Given the description of an element on the screen output the (x, y) to click on. 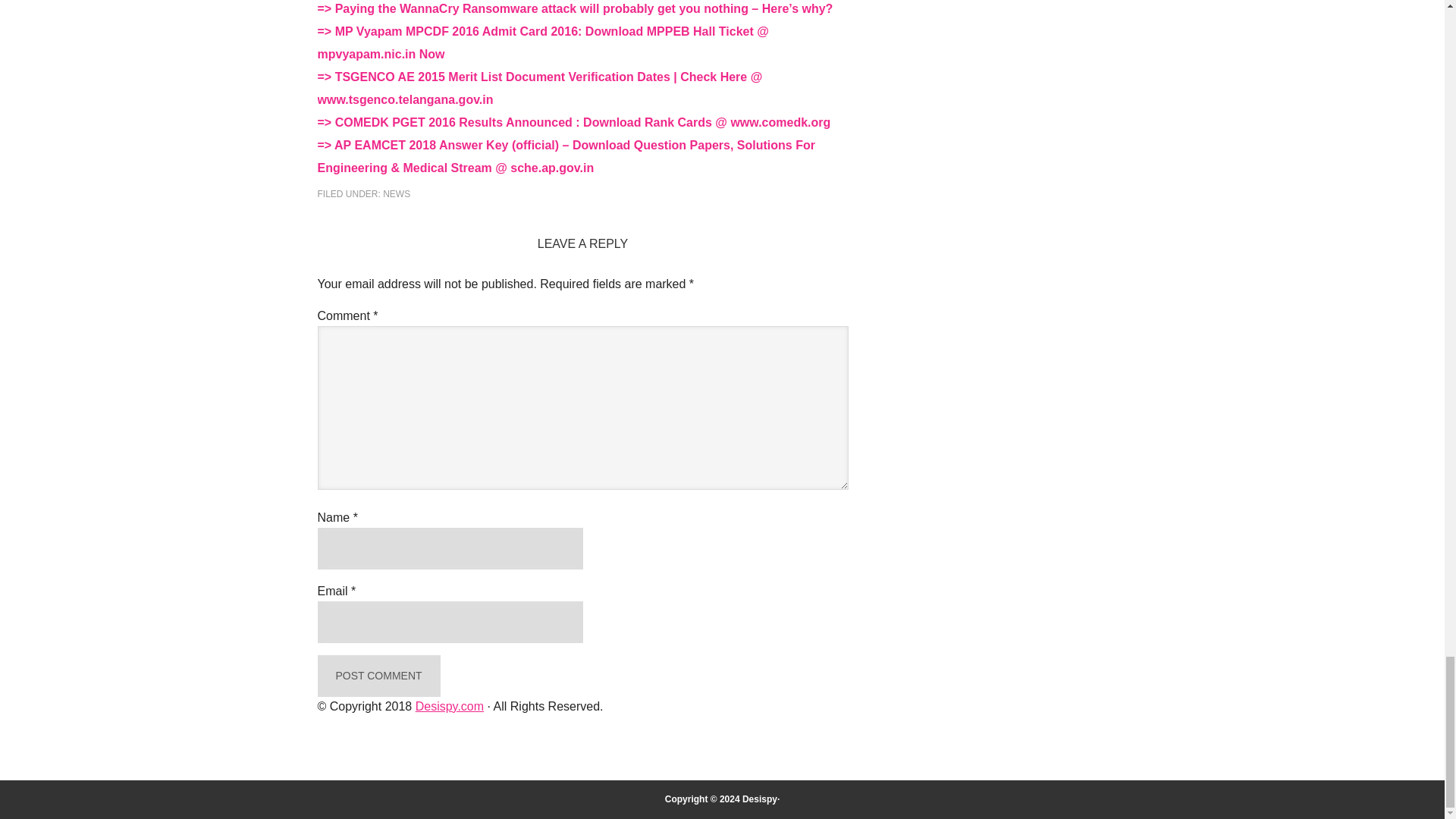
Post Comment (378, 675)
Desispy.com (448, 706)
NEWS (396, 194)
Post Comment (378, 675)
